Given the description of an element on the screen output the (x, y) to click on. 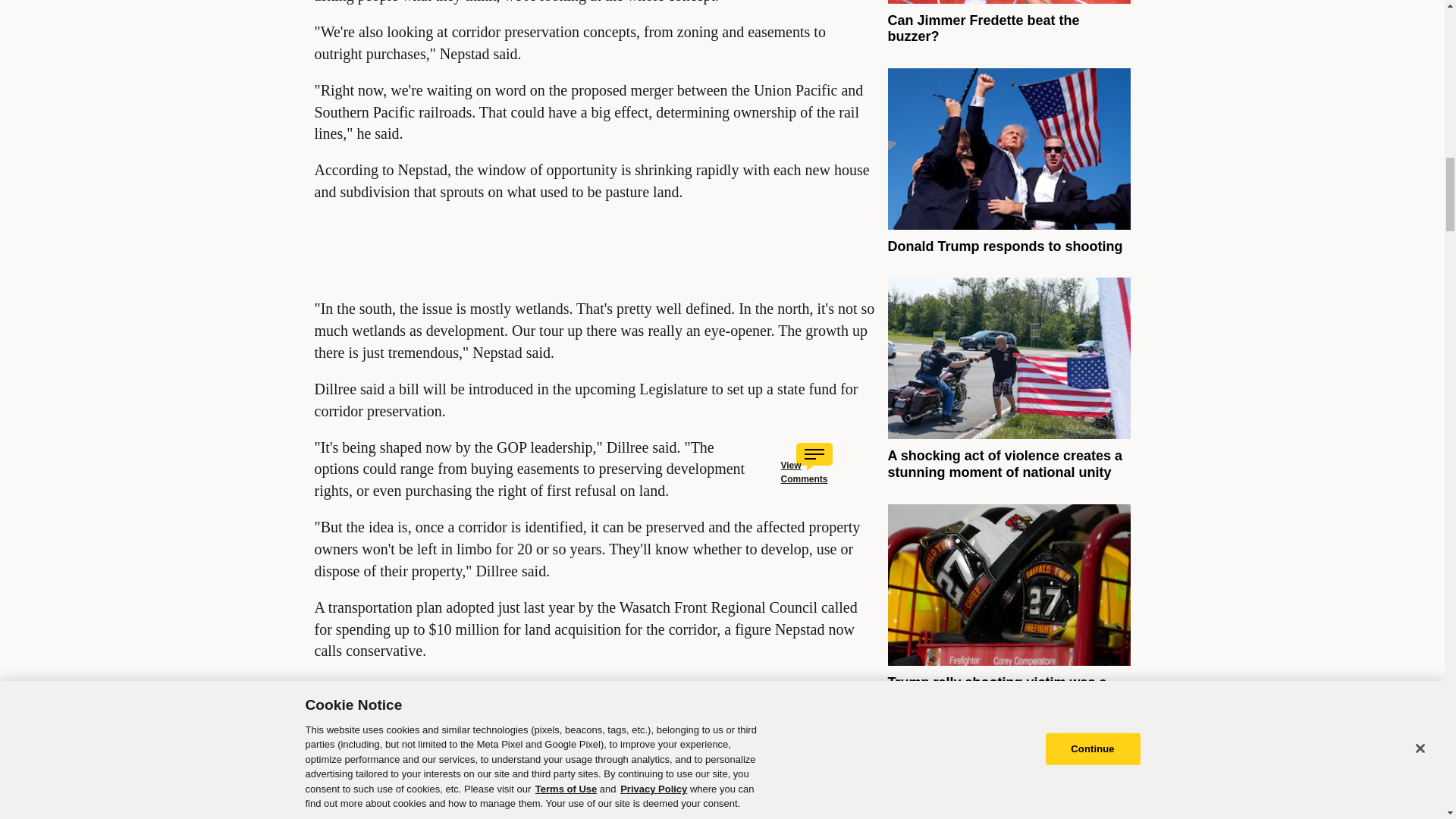
Can Jimmer Fredette beat the buzzer? (982, 29)
